Given the description of an element on the screen output the (x, y) to click on. 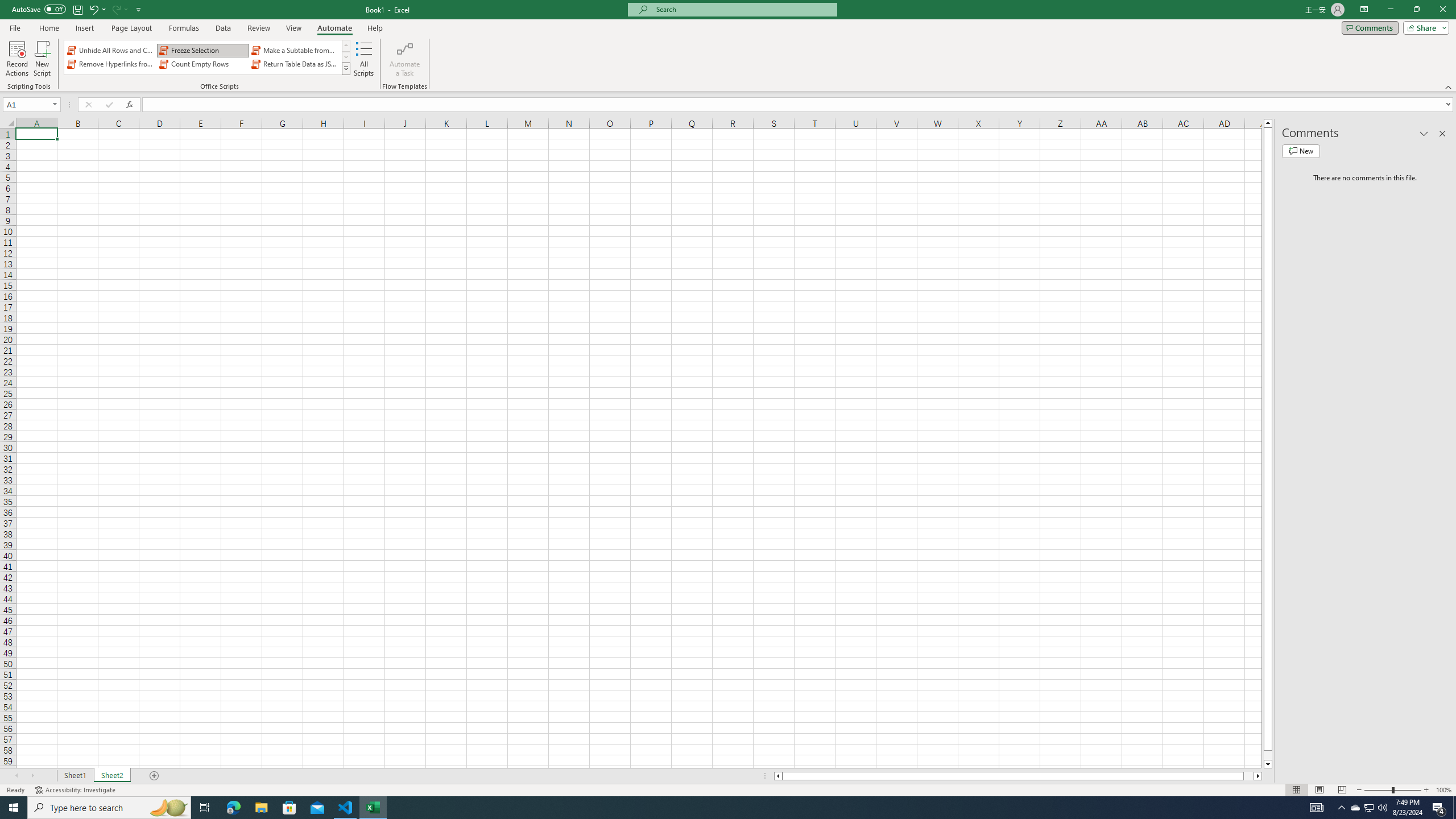
Remove Hyperlinks from Sheet (111, 64)
Automate a Task (404, 58)
Close pane (1441, 133)
